Given the description of an element on the screen output the (x, y) to click on. 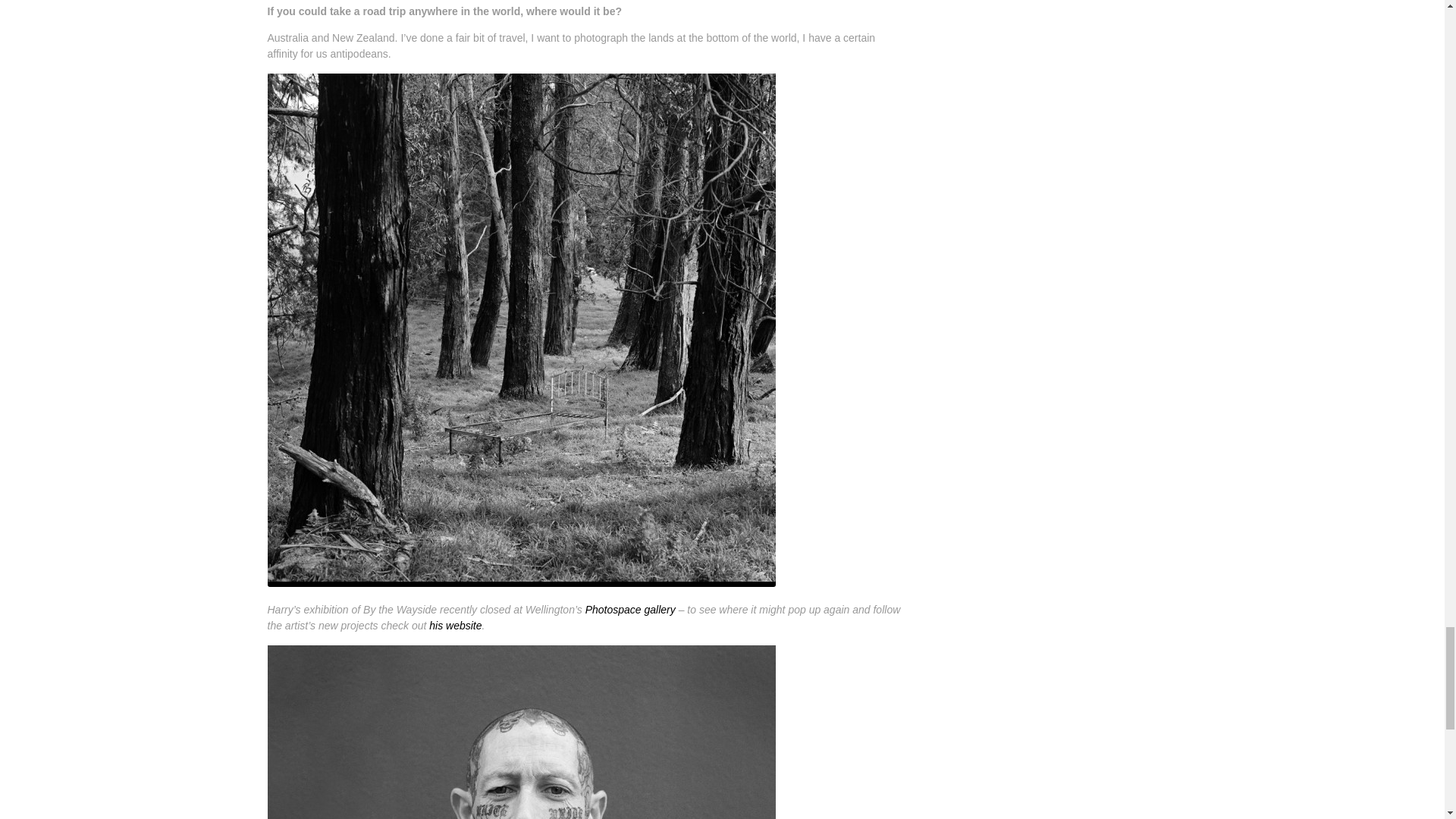
Photospace gallery (630, 609)
his website (455, 625)
